Given the description of an element on the screen output the (x, y) to click on. 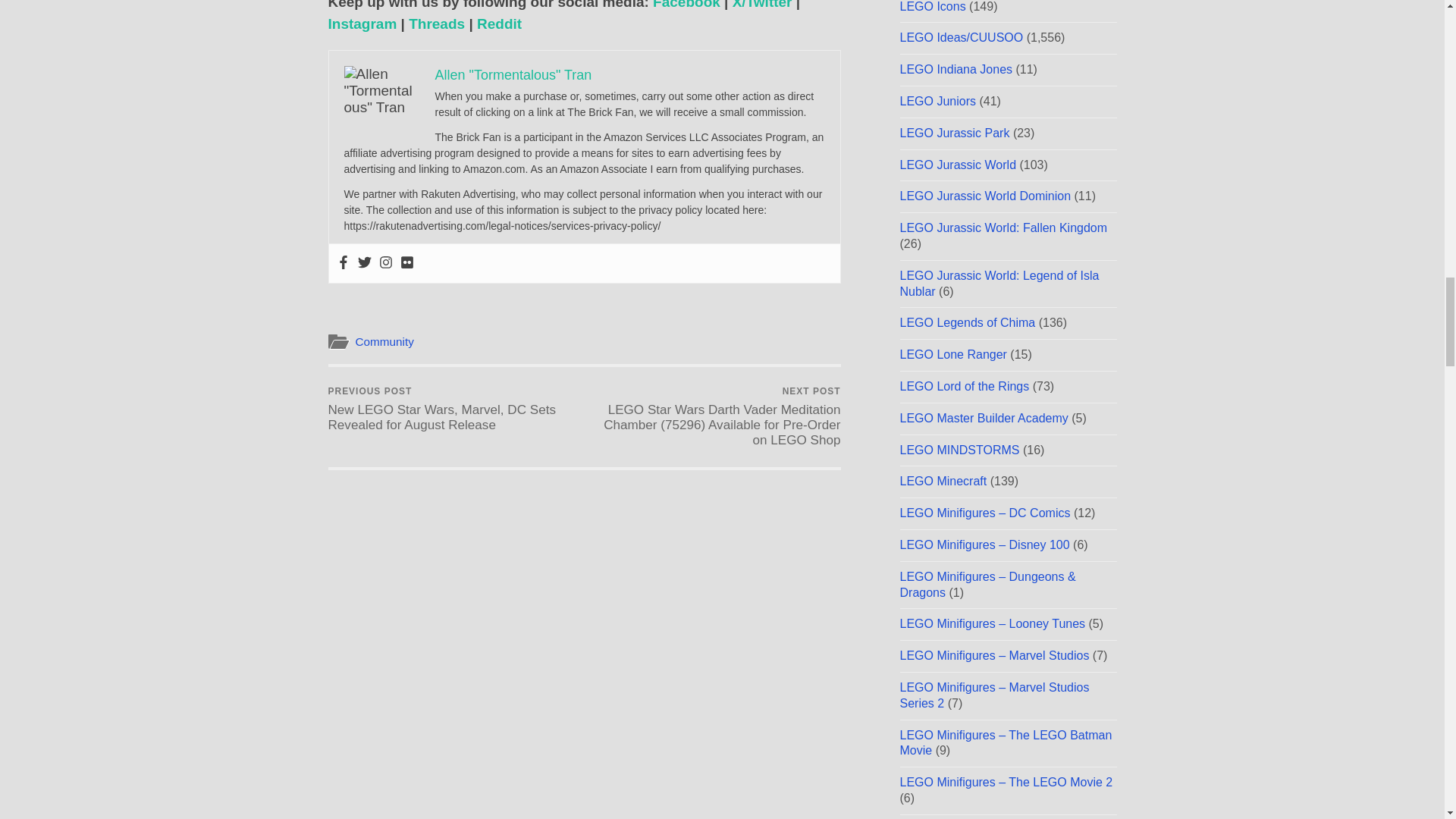
Threads (436, 23)
Instagram (361, 23)
Community (384, 341)
Facebook (686, 4)
Reddit (499, 23)
Allen "Tormentalous" Tran (513, 74)
